Given the description of an element on the screen output the (x, y) to click on. 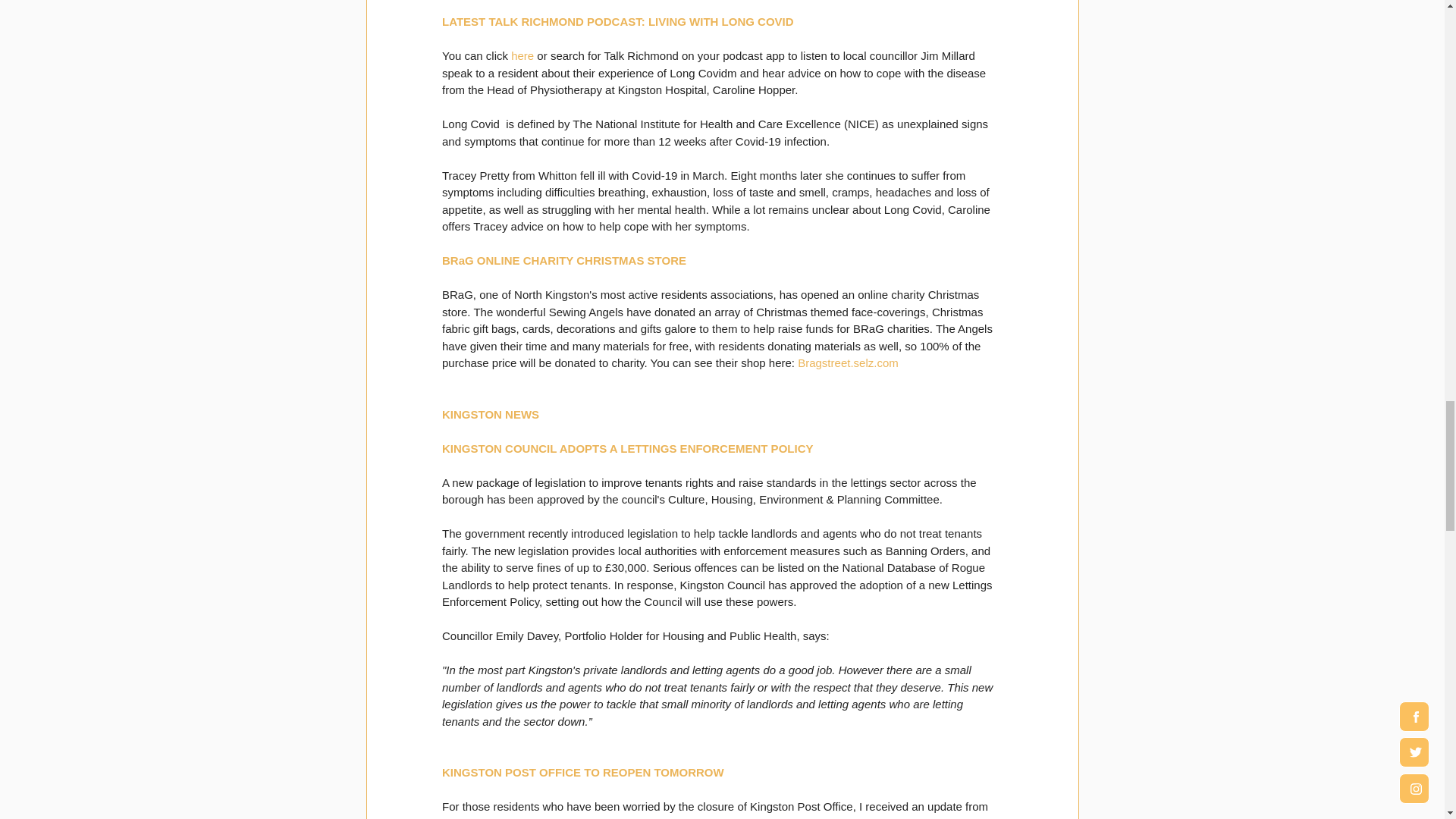
here (522, 55)
Bragstreet.selz.com (847, 362)
